Given the description of an element on the screen output the (x, y) to click on. 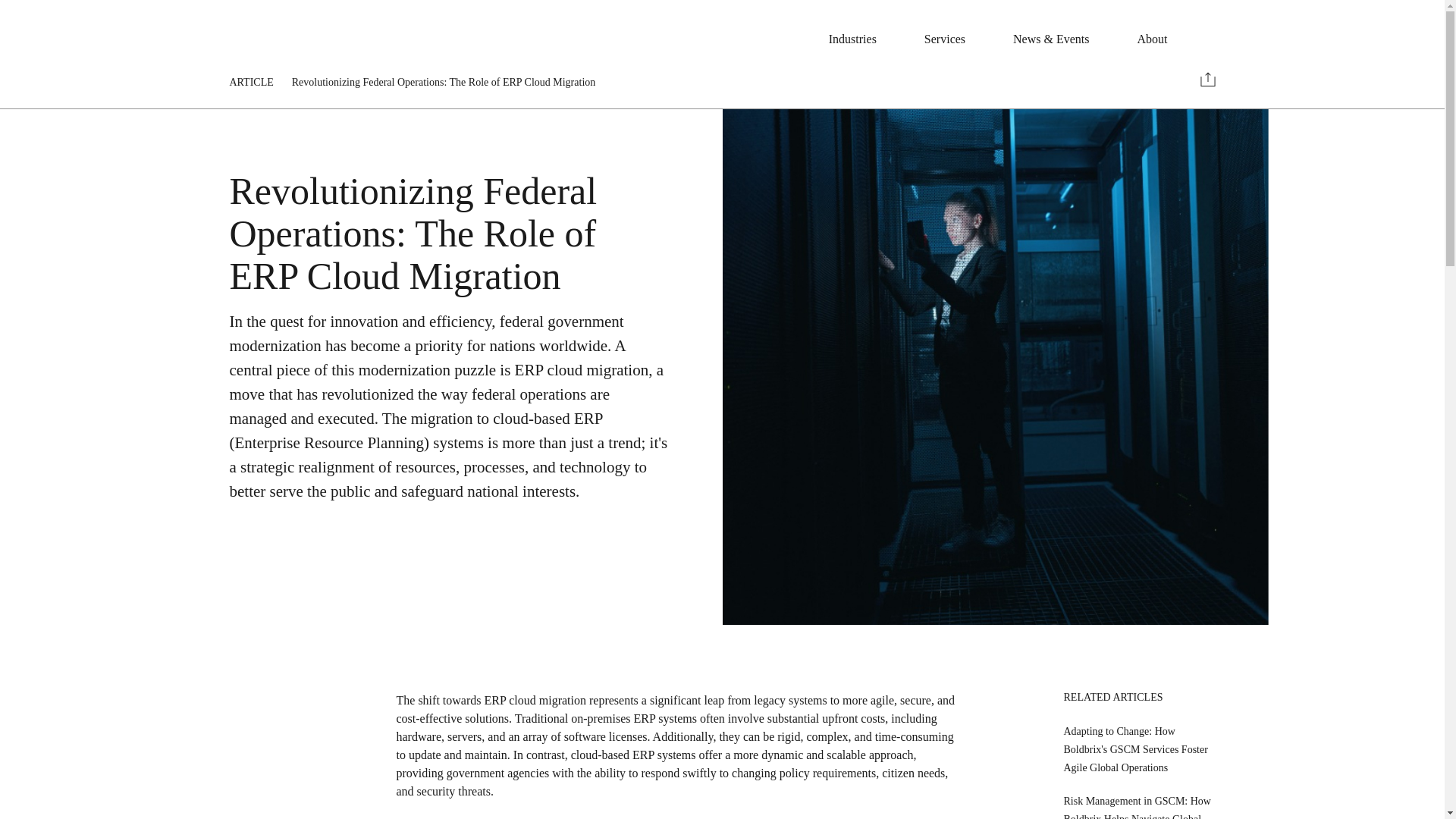
Share (1206, 78)
